Given the description of an element on the screen output the (x, y) to click on. 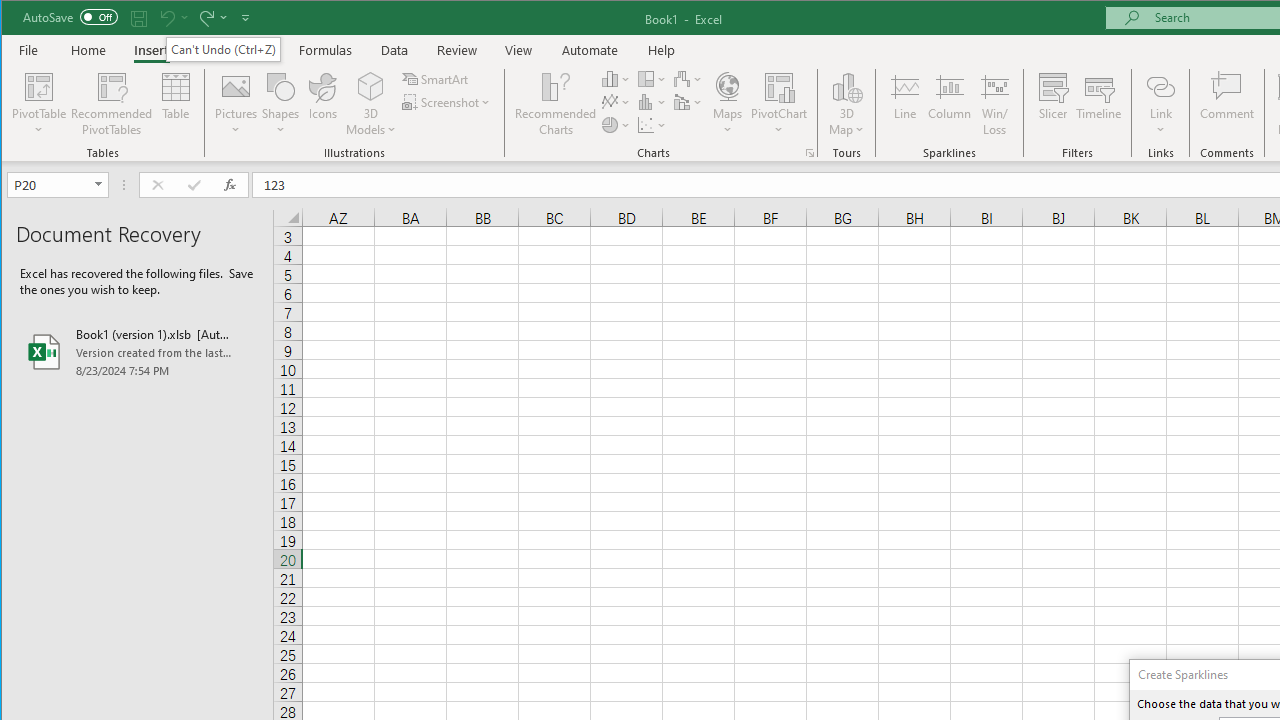
Link (1160, 86)
Insert Waterfall, Funnel, Stock, Surface, or Radar Chart (688, 78)
3D Map (846, 86)
Insert Combo Chart (688, 101)
Icons (323, 104)
Maps (727, 104)
Insert Statistic Chart (652, 101)
Shapes (280, 104)
